Given the description of an element on the screen output the (x, y) to click on. 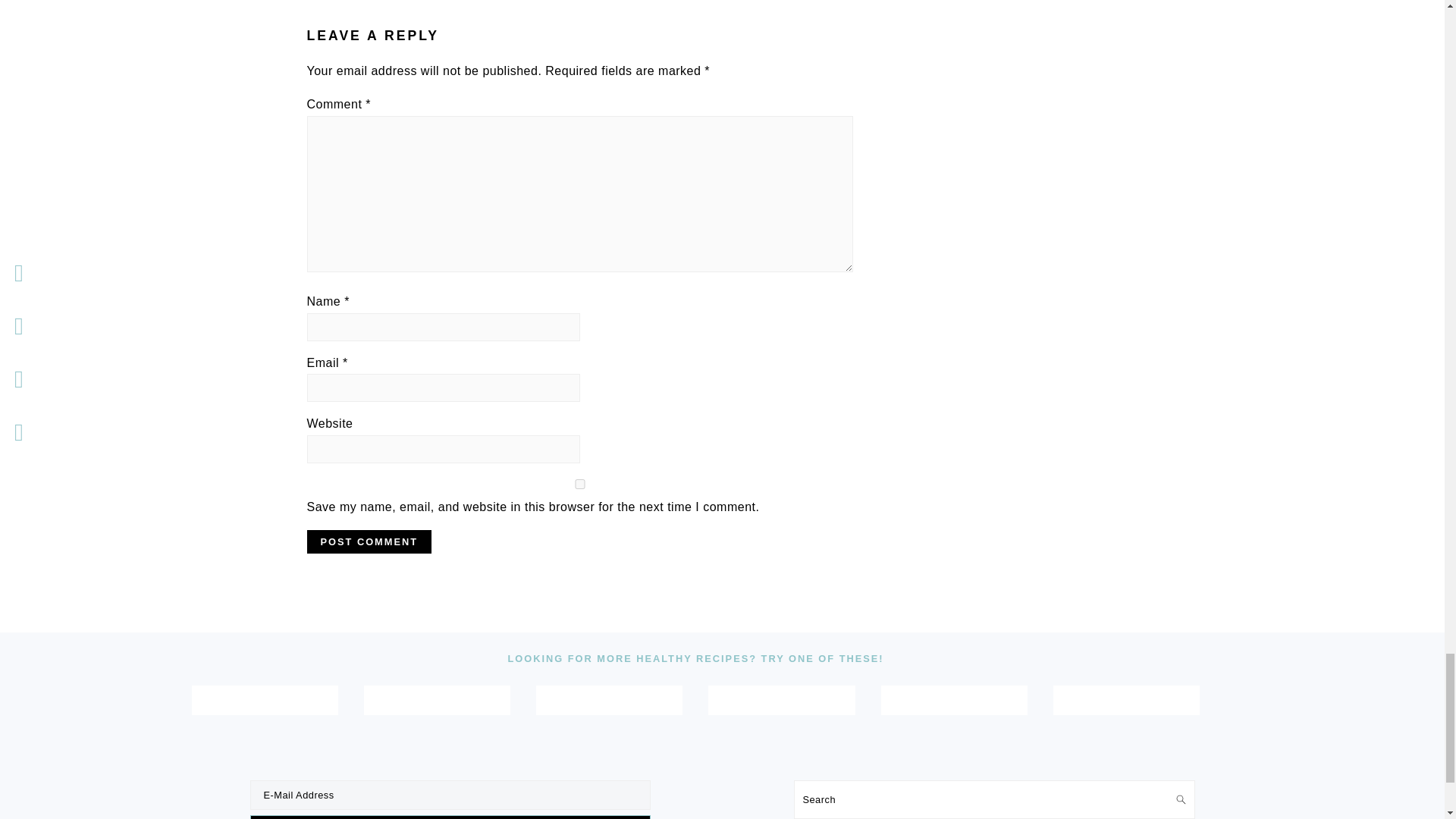
Post Comment (367, 541)
yes (578, 483)
